Given the description of an element on the screen output the (x, y) to click on. 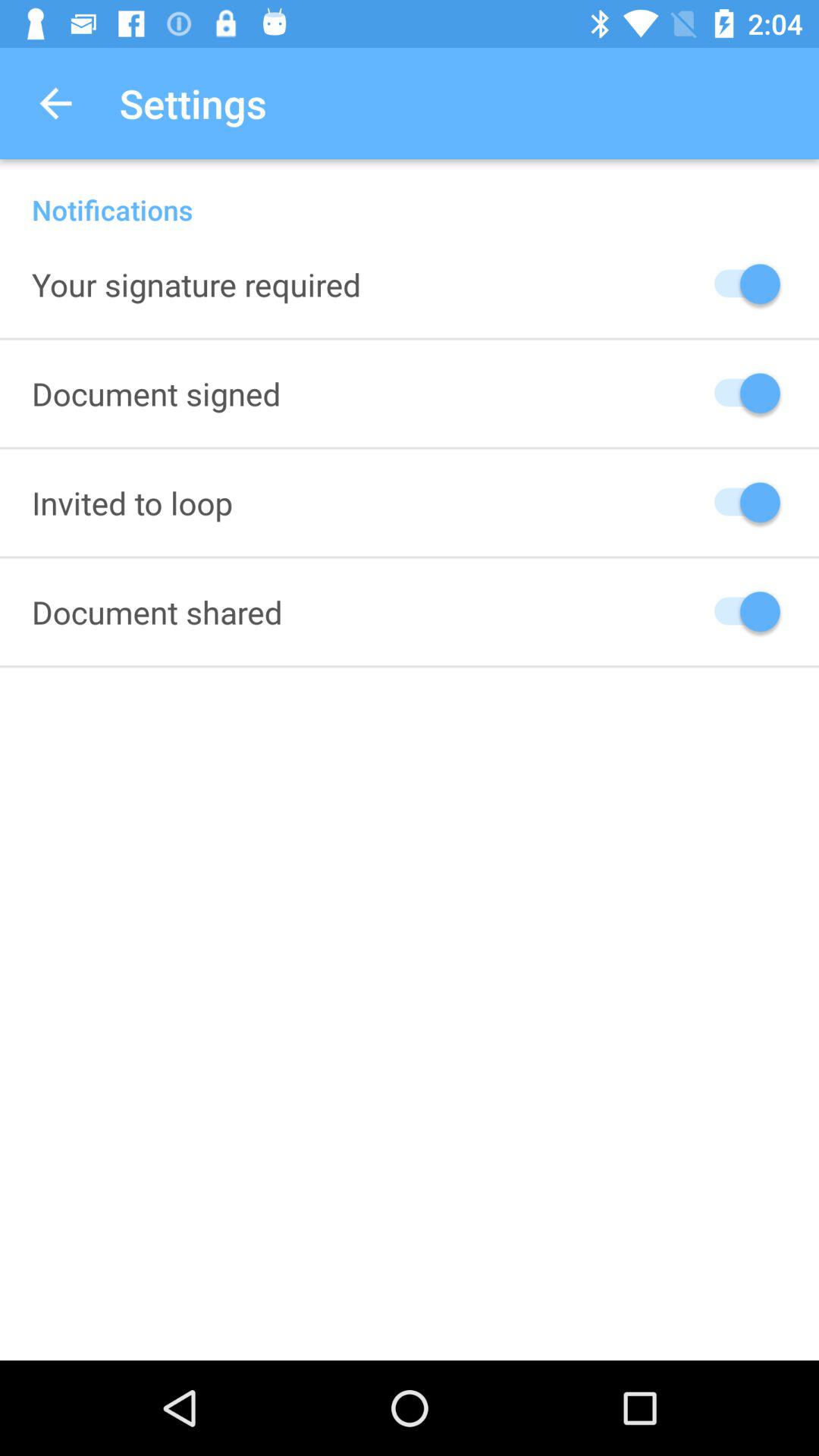
click the document shared (156, 611)
